Given the description of an element on the screen output the (x, y) to click on. 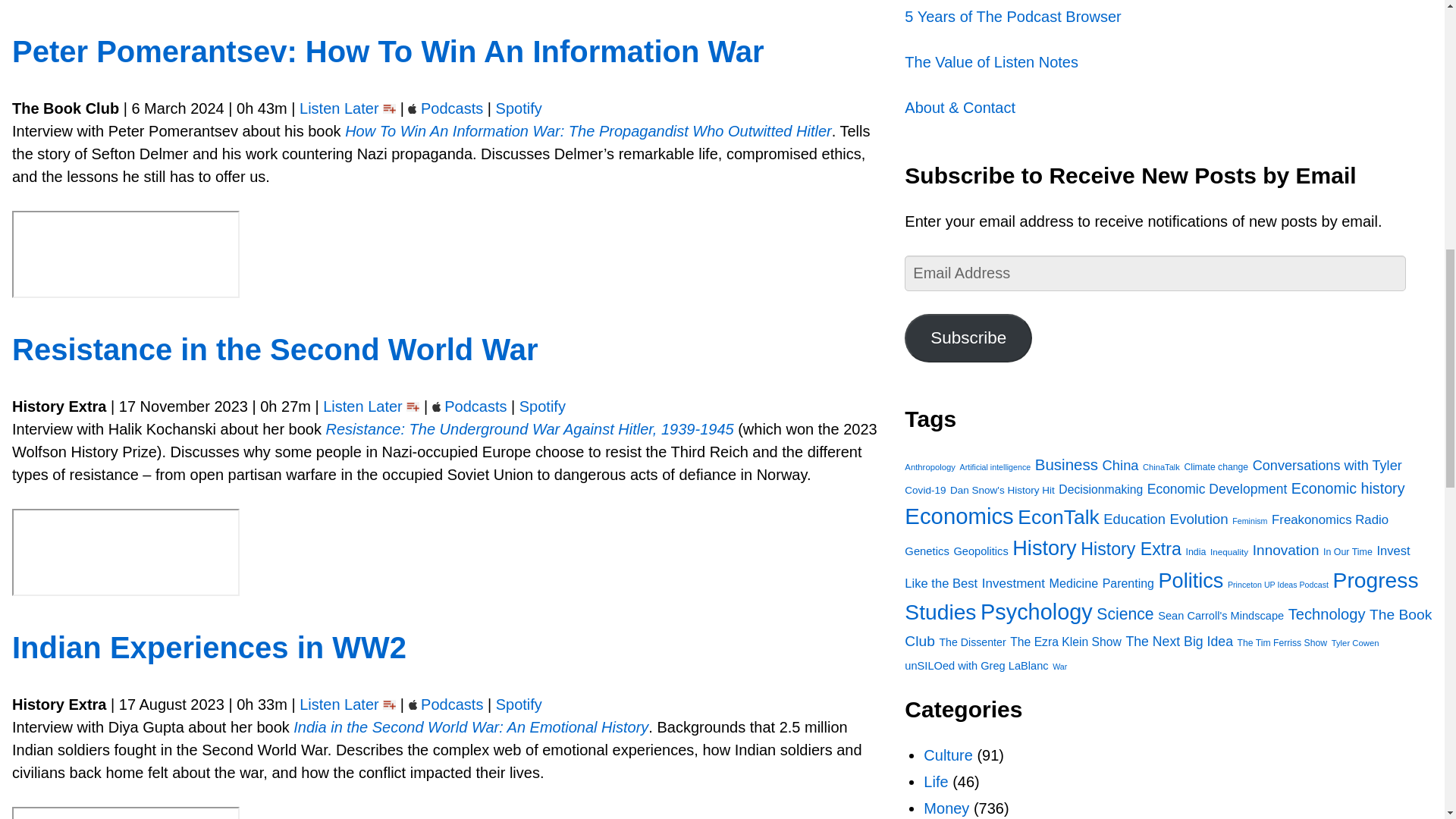
Resistance: The Underground War Against Hitler, 1939-1945 (529, 428)
5 Years of The Podcast Browser (1012, 16)
Listen Later (338, 704)
Podcasts (475, 406)
Resistance in the Second World War (274, 349)
Peter Pomerantsev: How To Win An Information War (387, 51)
Podcasts (451, 704)
Spotify (518, 108)
Listen Later (338, 108)
Indian Experiences in WW2 (208, 647)
Spotify (542, 406)
Spotify (518, 704)
Podcasts (451, 108)
India in the Second World War: An Emotional History (470, 727)
